Given the description of an element on the screen output the (x, y) to click on. 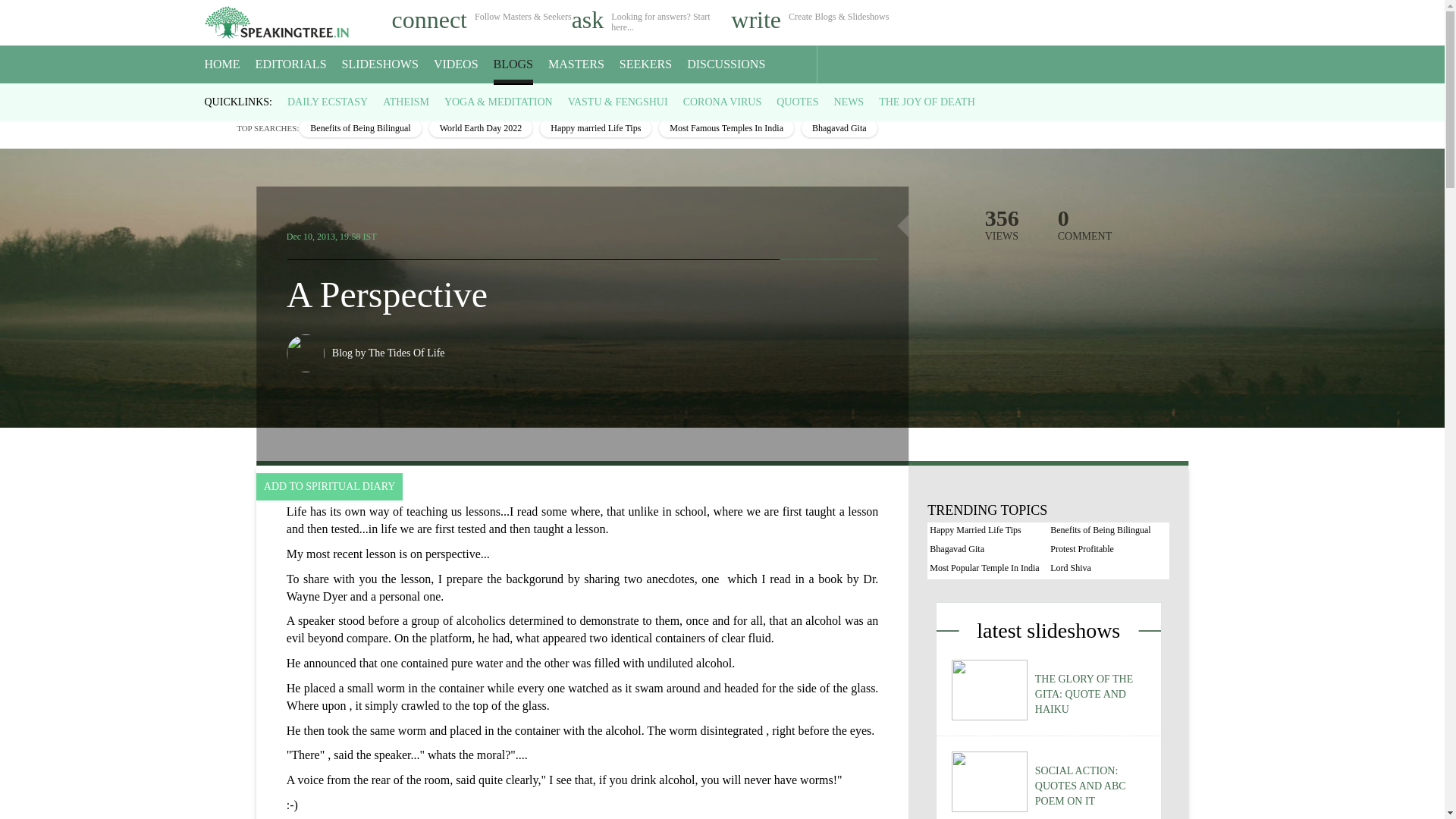
CORONA VIRUS (721, 101)
QUOTES (797, 101)
VIDEOS (456, 64)
THE JOY OF DEATH (927, 101)
Speaking Tree (216, 96)
Blogs (251, 96)
Share on Facebook (796, 231)
BLOGS (512, 64)
MASTERS (576, 64)
EDITORIALS (291, 64)
